Given the description of an element on the screen output the (x, y) to click on. 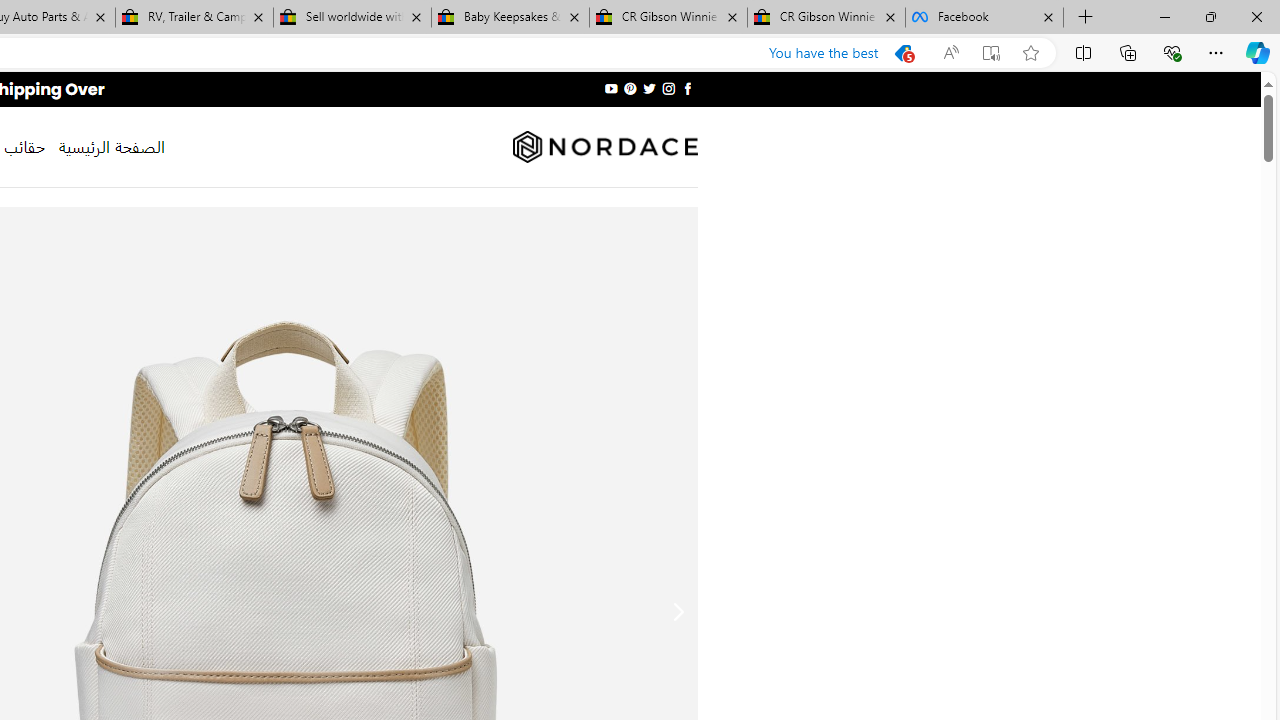
You have the best price! (902, 53)
